Given the description of an element on the screen output the (x, y) to click on. 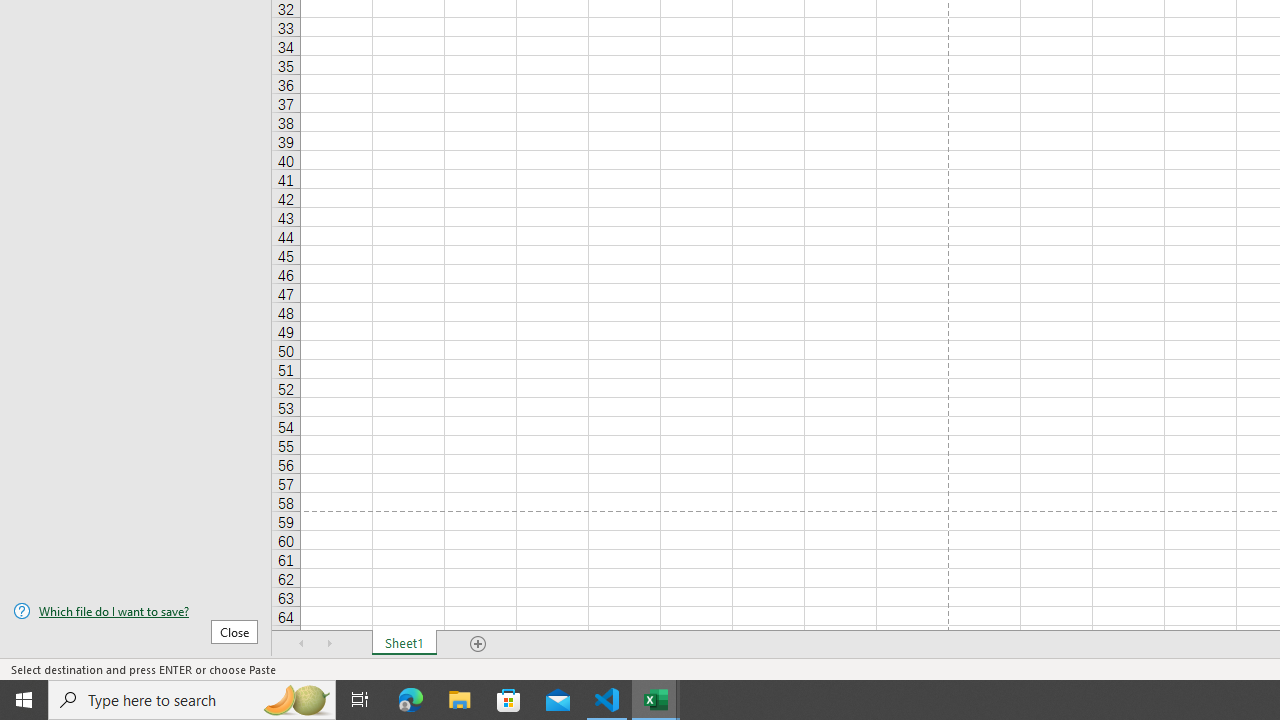
Search highlights icon opens search home window (295, 699)
Task View (359, 699)
Add Sheet (478, 644)
Microsoft Edge (411, 699)
Scroll Left (302, 644)
Sheet1 (404, 644)
File Explorer (460, 699)
Scroll Right (330, 644)
Which file do I want to save? (136, 611)
Visual Studio Code - 1 running window (607, 699)
Type here to search (191, 699)
Start (24, 699)
Close (234, 631)
Excel - 2 running windows (656, 699)
